Given the description of an element on the screen output the (x, y) to click on. 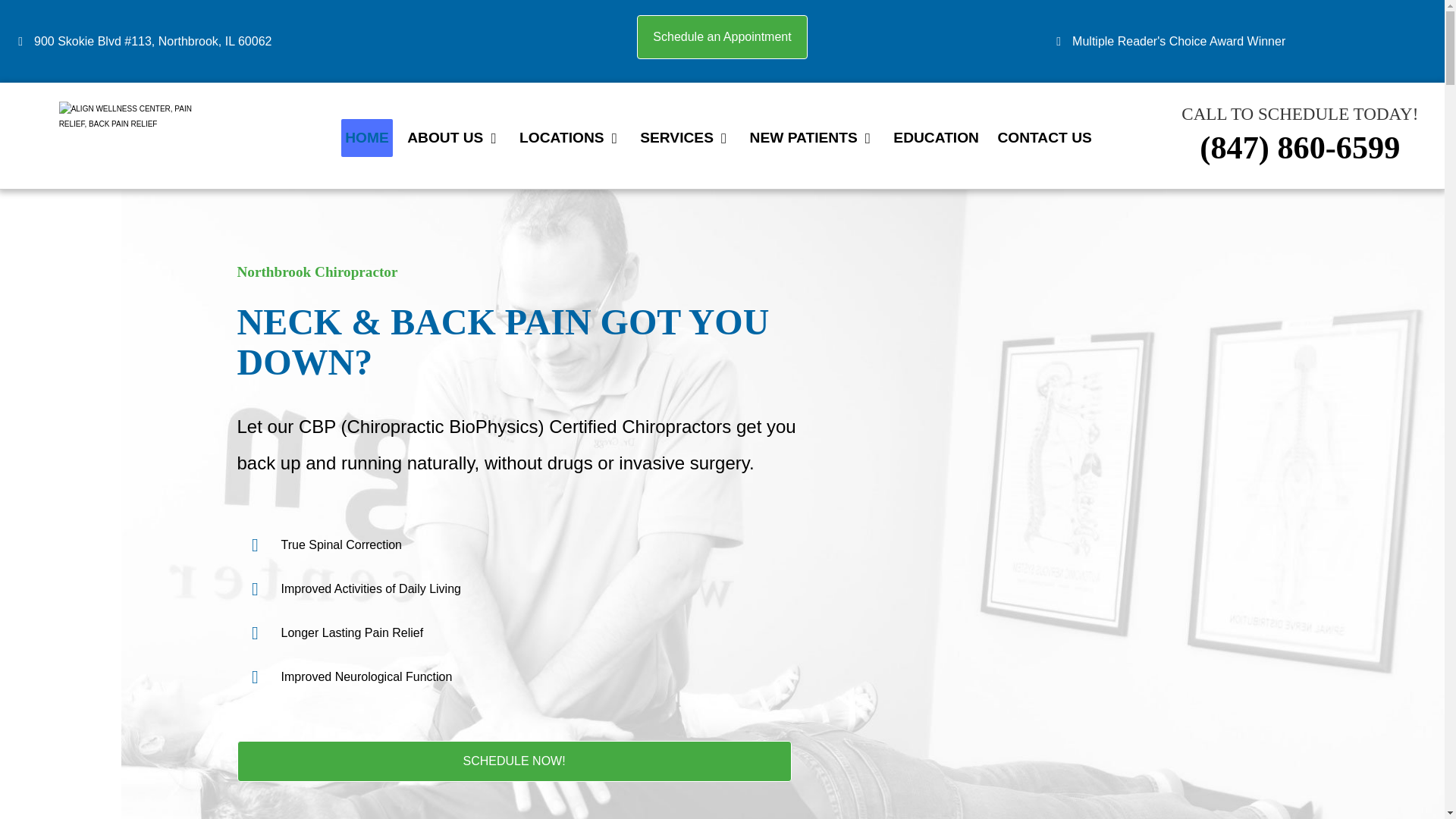
Schedule an Appointment (721, 36)
HOME (366, 137)
ABOUT US (453, 137)
SERVICES (685, 137)
NEW PATIENTS (812, 137)
LOCATIONS (570, 137)
